Given the description of an element on the screen output the (x, y) to click on. 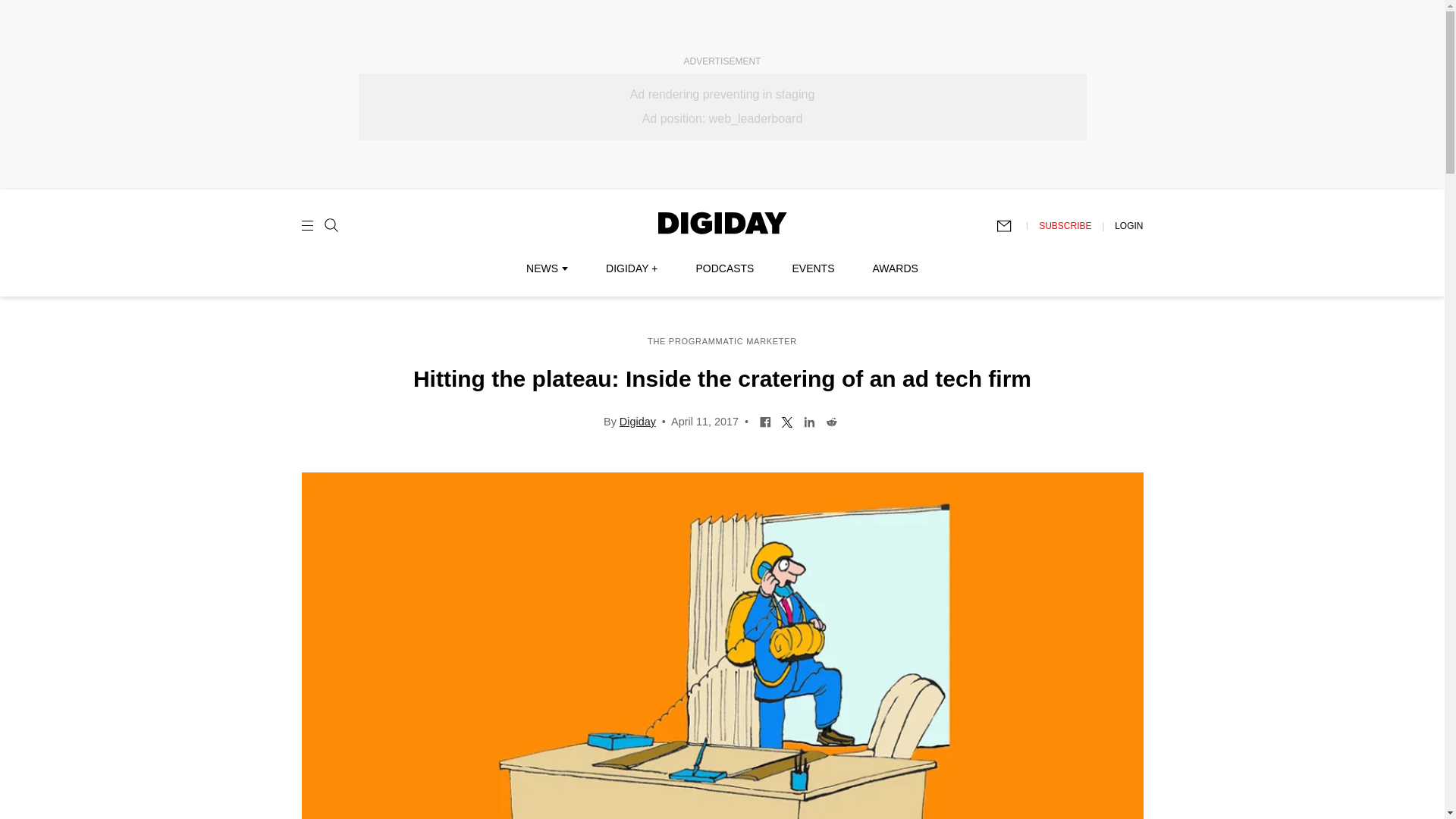
Subscribe (1010, 225)
Share on Reddit (831, 420)
EVENTS (813, 267)
Share on LinkedIn (809, 420)
SUBSCRIBE (1064, 225)
AWARDS (894, 267)
PODCASTS (725, 267)
LOGIN (1128, 225)
Share on Twitter (786, 420)
Share on Facebook (764, 420)
NEWS (546, 267)
